Given the description of an element on the screen output the (x, y) to click on. 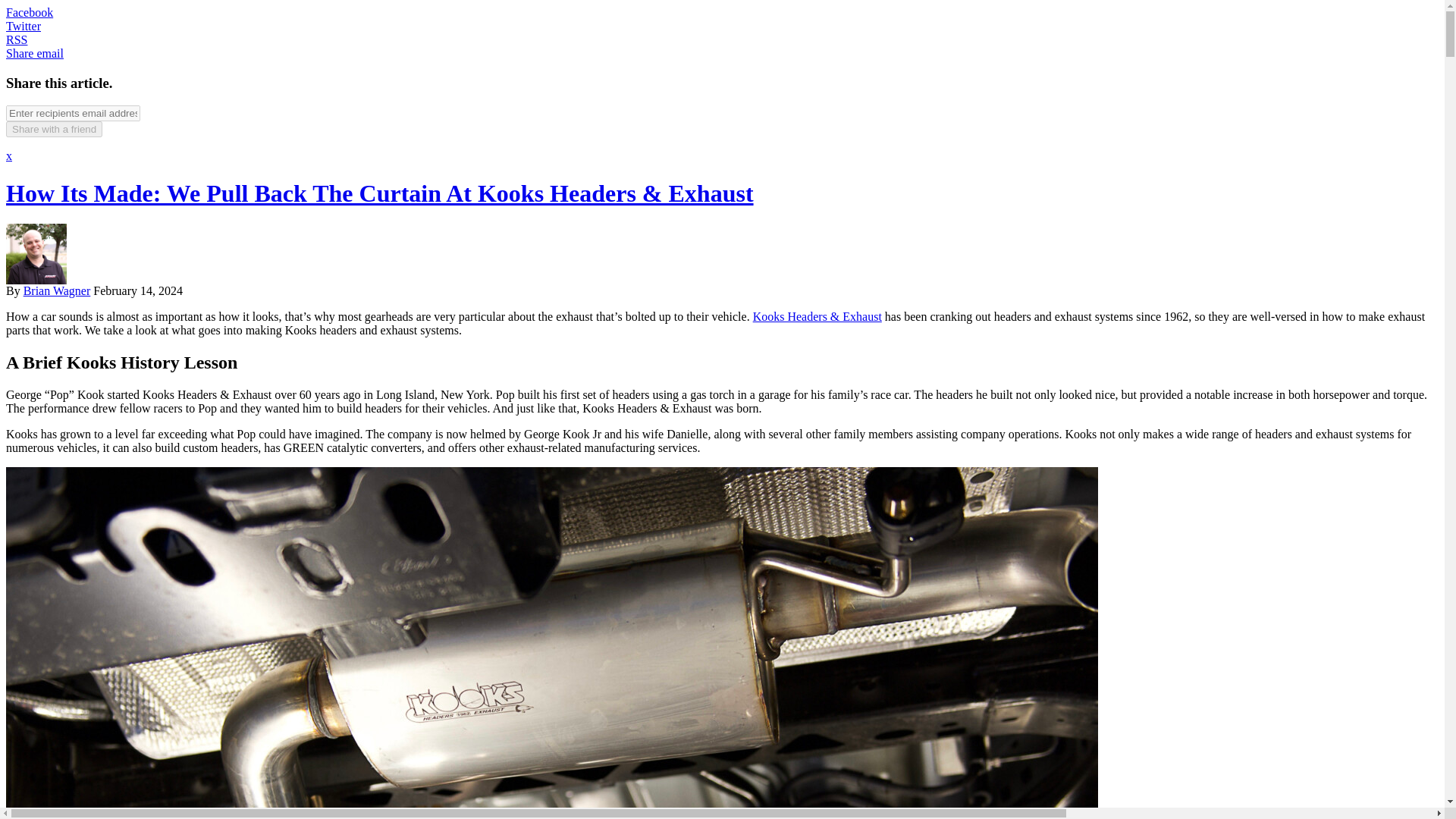
Brian Wagner (56, 290)
Share email (34, 52)
Facebook (28, 11)
x (8, 155)
RSS (16, 39)
Twitter (22, 25)
Share with a friend (53, 129)
